Given the description of an element on the screen output the (x, y) to click on. 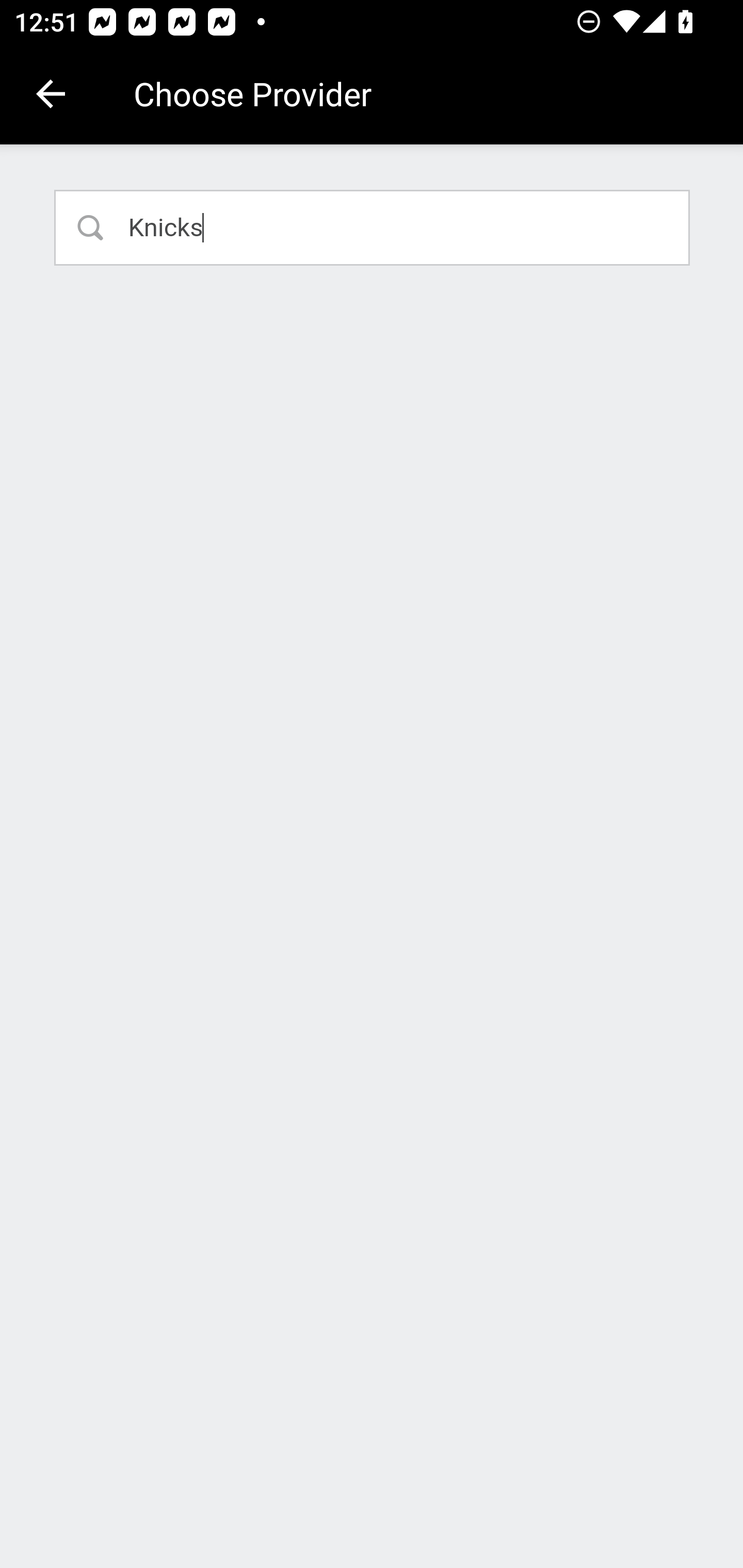
Navigate up (50, 93)
Knicks (372, 227)
